Given the description of an element on the screen output the (x, y) to click on. 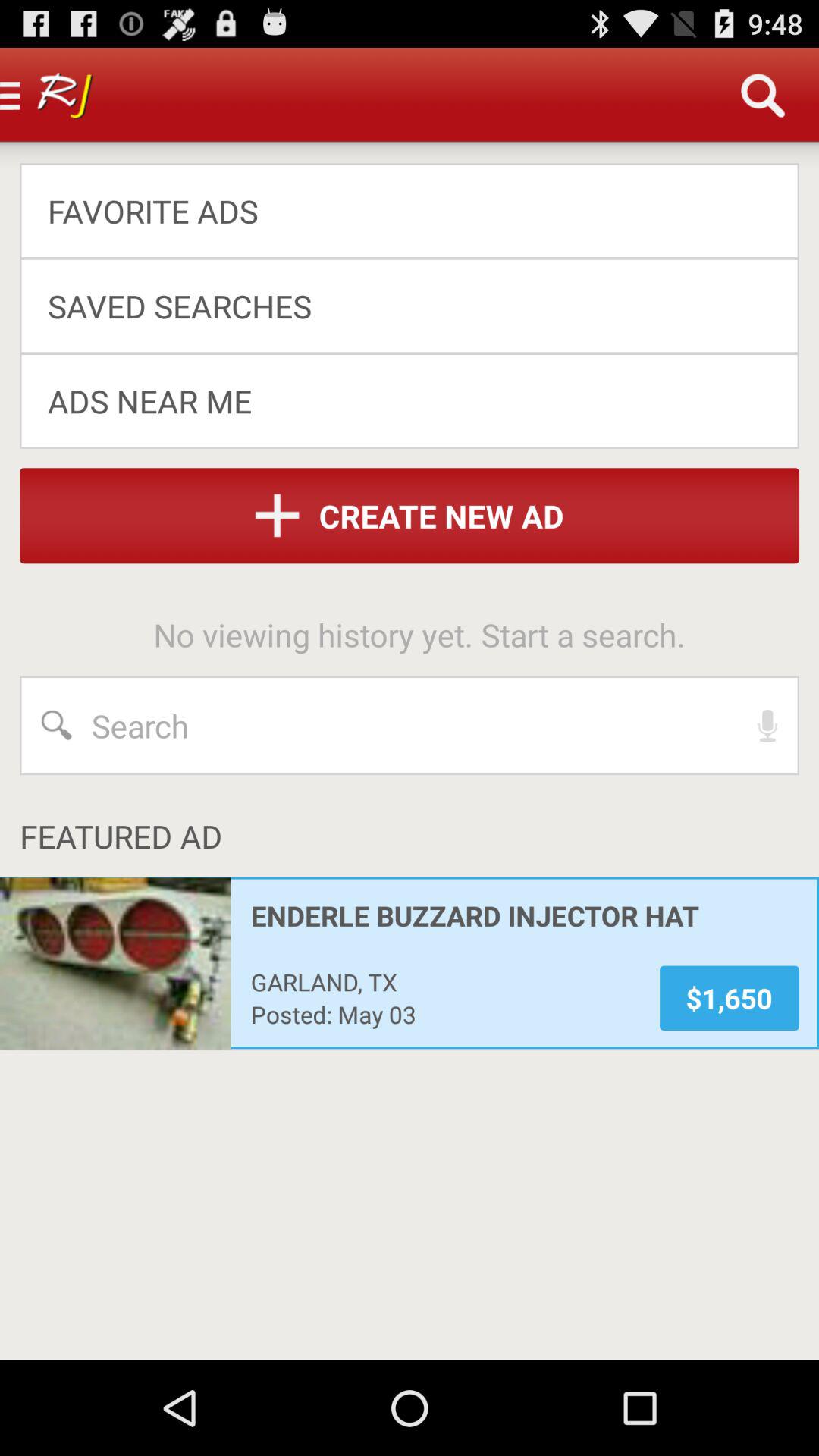
flip to the posted: may 03 icon (444, 1014)
